Given the description of an element on the screen output the (x, y) to click on. 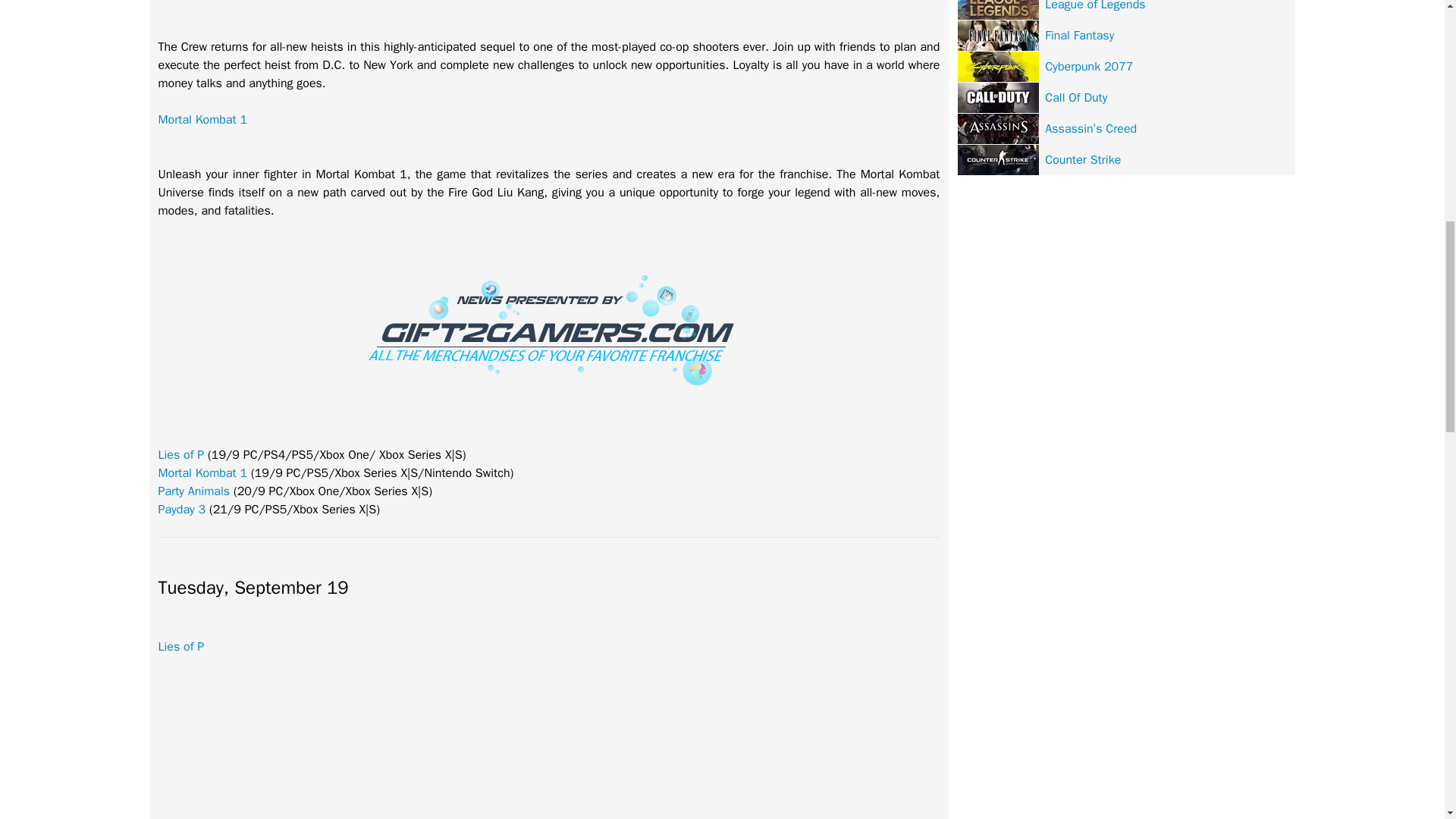
Mortal Kombat 1 (202, 473)
Mortal Kombat 1 (202, 119)
Lies of P (180, 454)
Party Animals (193, 491)
Lies of P (180, 646)
Payday 3 (181, 509)
